Given the description of an element on the screen output the (x, y) to click on. 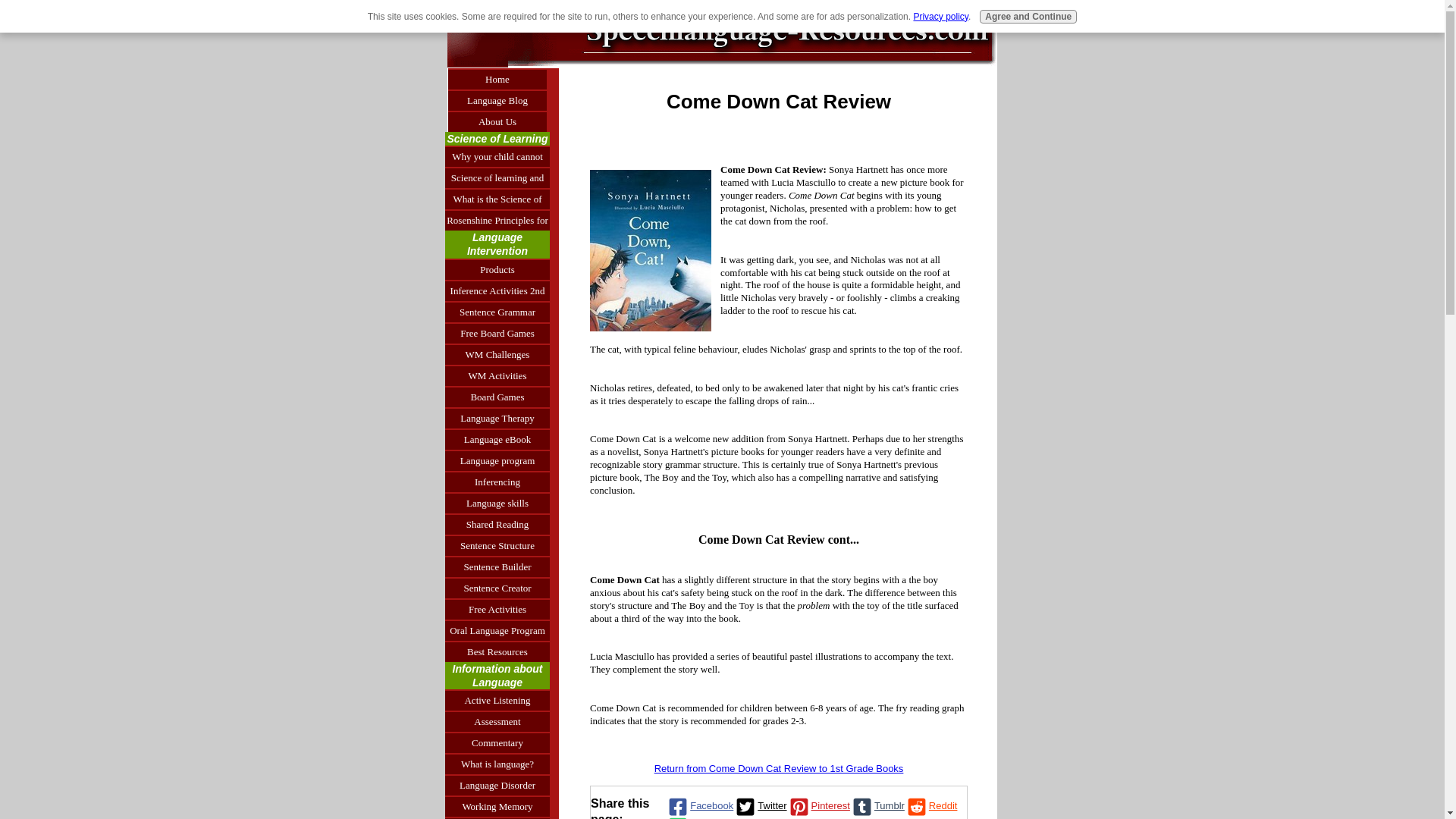
Language Therapy (497, 417)
What is the Science of Reading? (497, 198)
Language Disorder (497, 784)
WM Activities (497, 374)
Rosenshine Principles for Classroom Practice (497, 219)
Working Memory (497, 805)
WM Challenges (497, 353)
Shared Reading (497, 523)
Commentary (497, 742)
What is language? (497, 762)
About Us (497, 120)
Language Blog (497, 99)
Board Games (497, 396)
Language skills (497, 502)
Inferencing (497, 481)
